Given the description of an element on the screen output the (x, y) to click on. 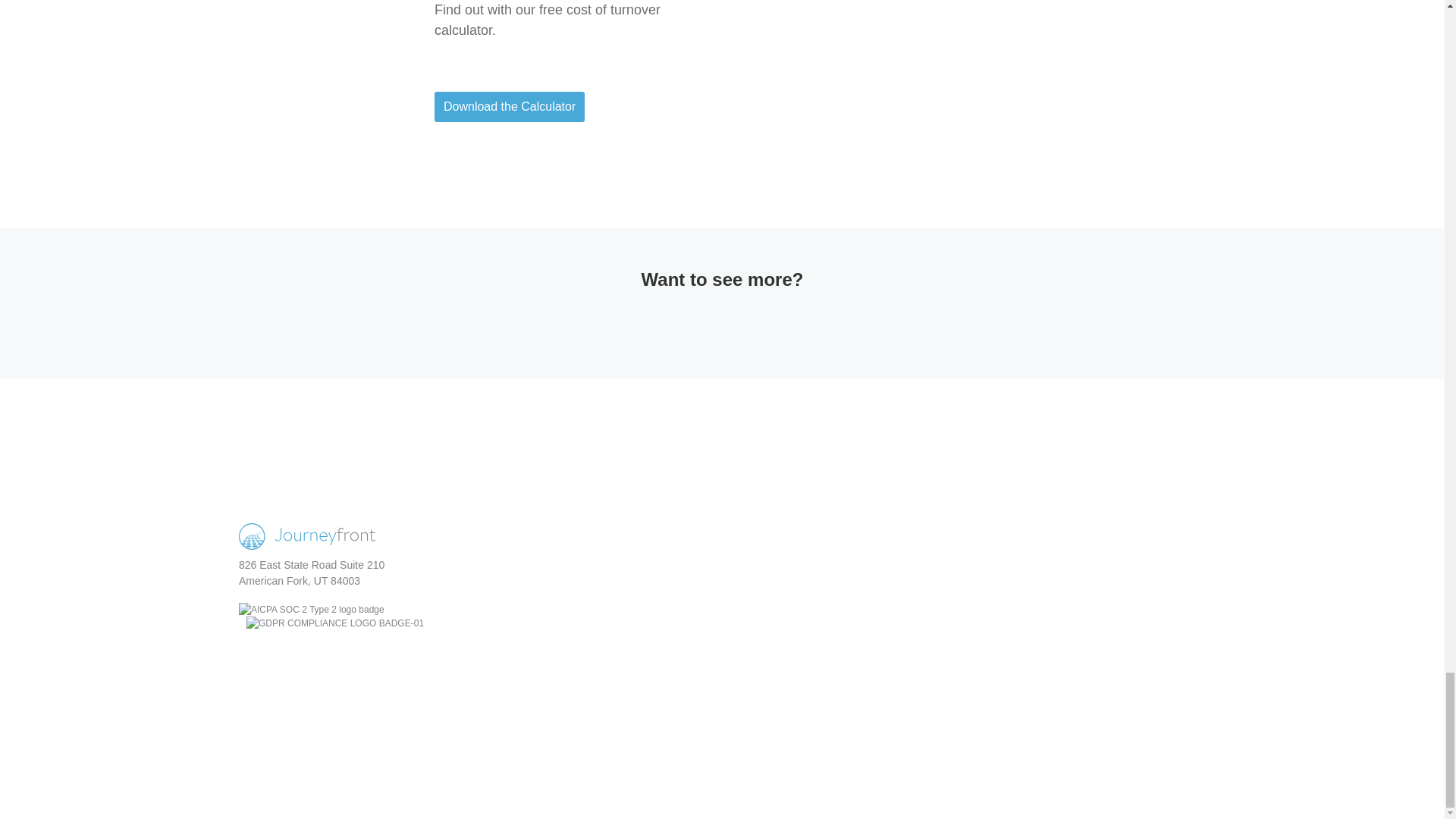
Download the Calculator (509, 106)
